Given the description of an element on the screen output the (x, y) to click on. 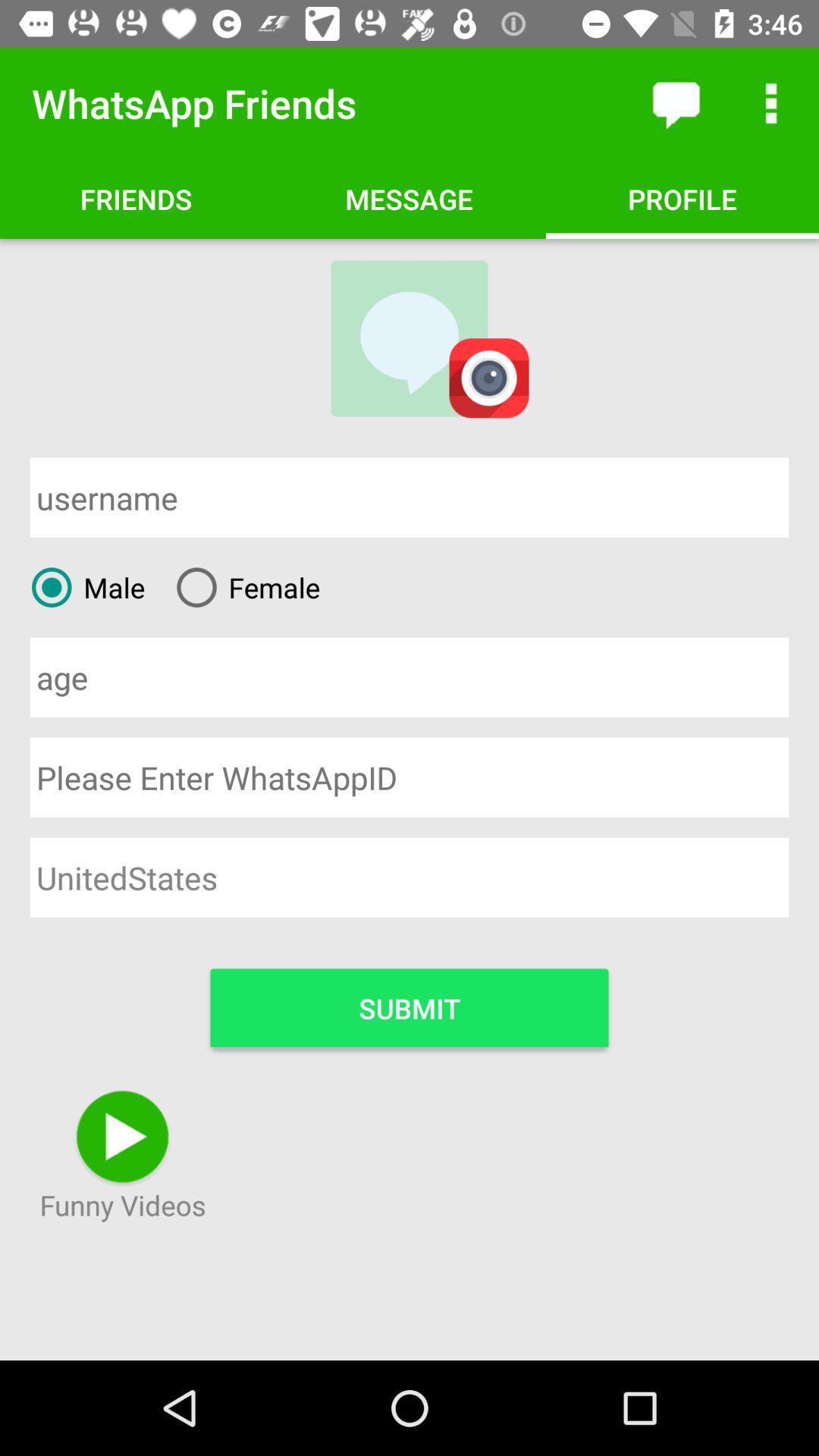
select the gender female (242, 587)
option right to friends (409, 198)
icon above the text funny videos (121, 1136)
